Given the description of an element on the screen output the (x, y) to click on. 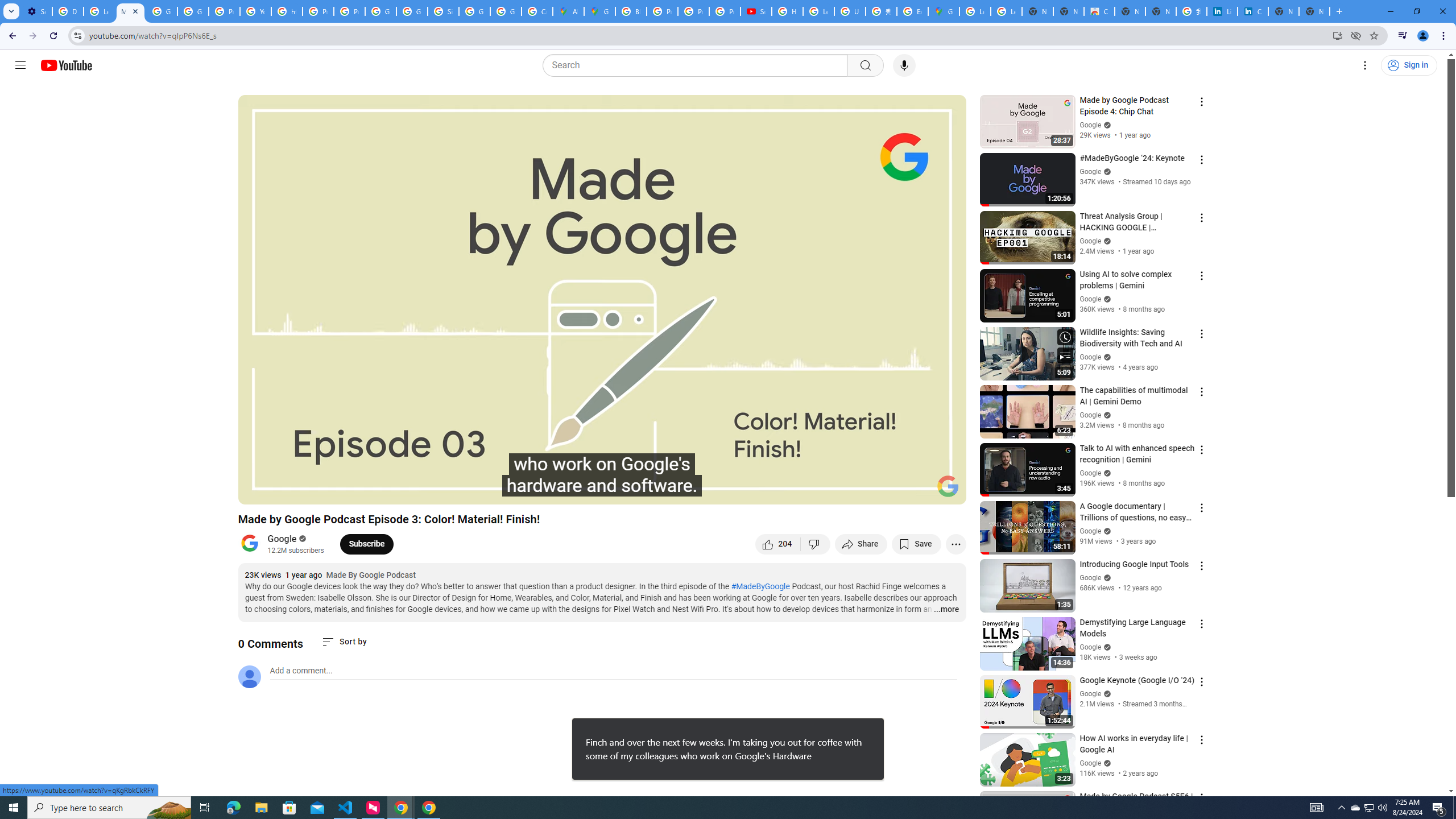
Default profile photo (248, 676)
Sign in - Google Accounts (443, 11)
Chrome Web Store (1098, 11)
Mute (m) (312, 490)
Miniplayer (i) (890, 490)
LinkedIn Login, Sign in | LinkedIn (1222, 11)
Privacy Help Center - Policies Help (693, 11)
Pause (k) (257, 490)
Privacy Help Center - Policies Help (223, 11)
